Given the description of an element on the screen output the (x, y) to click on. 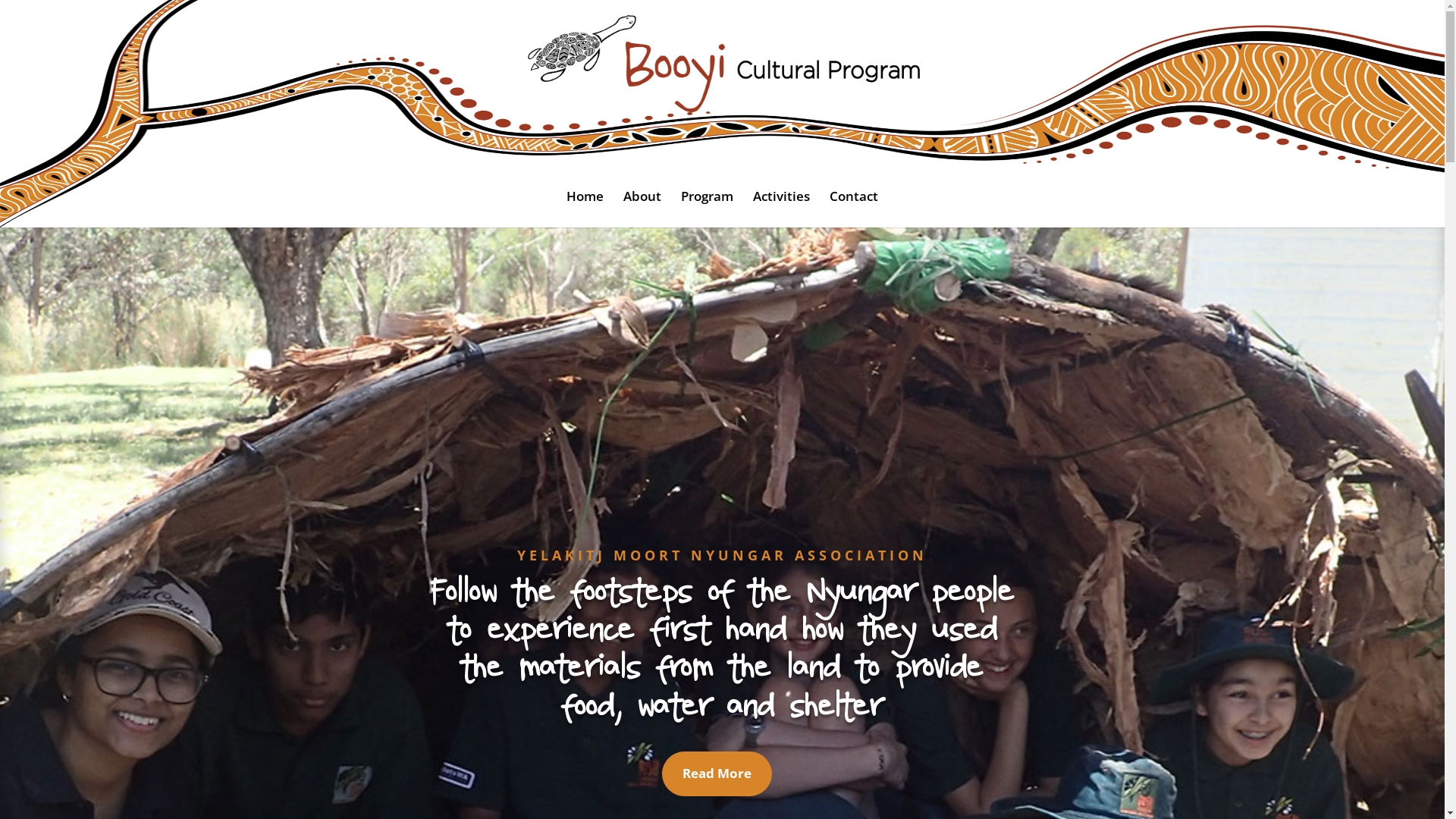
Read More Element type: text (716, 773)
Program Element type: text (706, 205)
Activities Element type: text (781, 205)
Contact Element type: text (853, 205)
About Element type: text (642, 205)
Home Element type: text (584, 205)
